Given the description of an element on the screen output the (x, y) to click on. 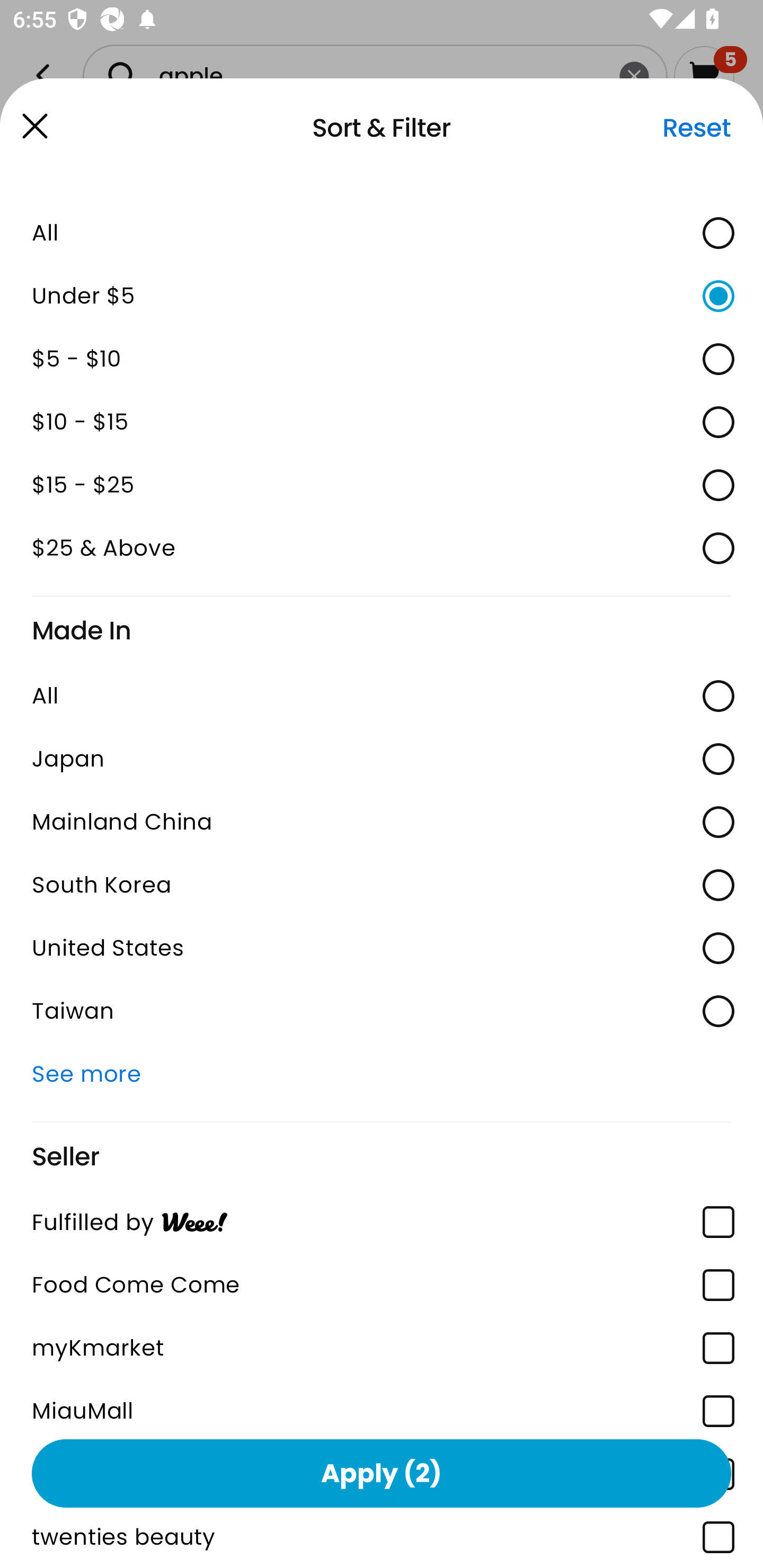
Reset (696, 127)
See more (381, 1073)
Apply (2) (381, 1472)
